Given the description of an element on the screen output the (x, y) to click on. 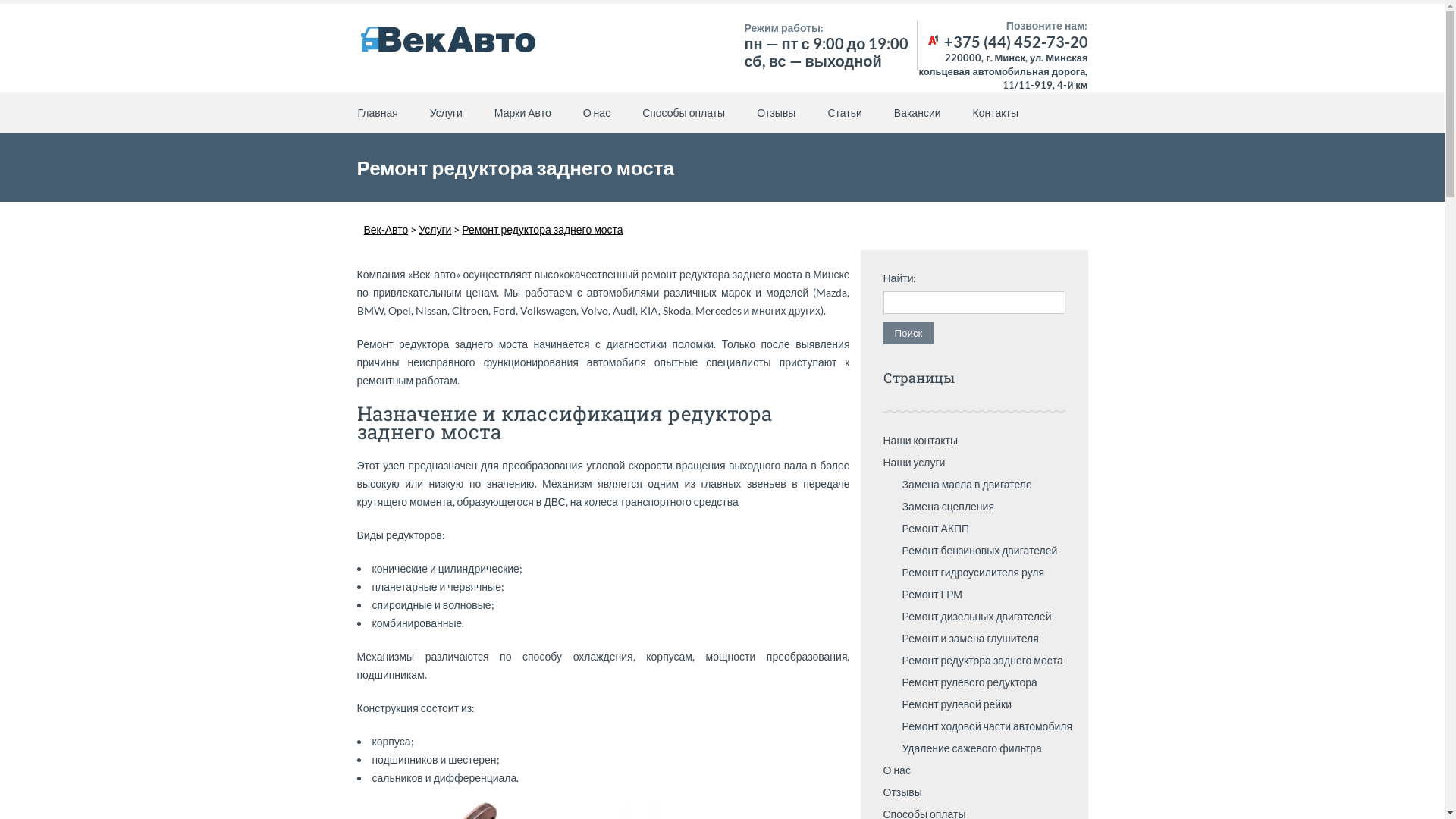
+375 (44) 452-73-20 Element type: text (1006, 41)
